Given the description of an element on the screen output the (x, y) to click on. 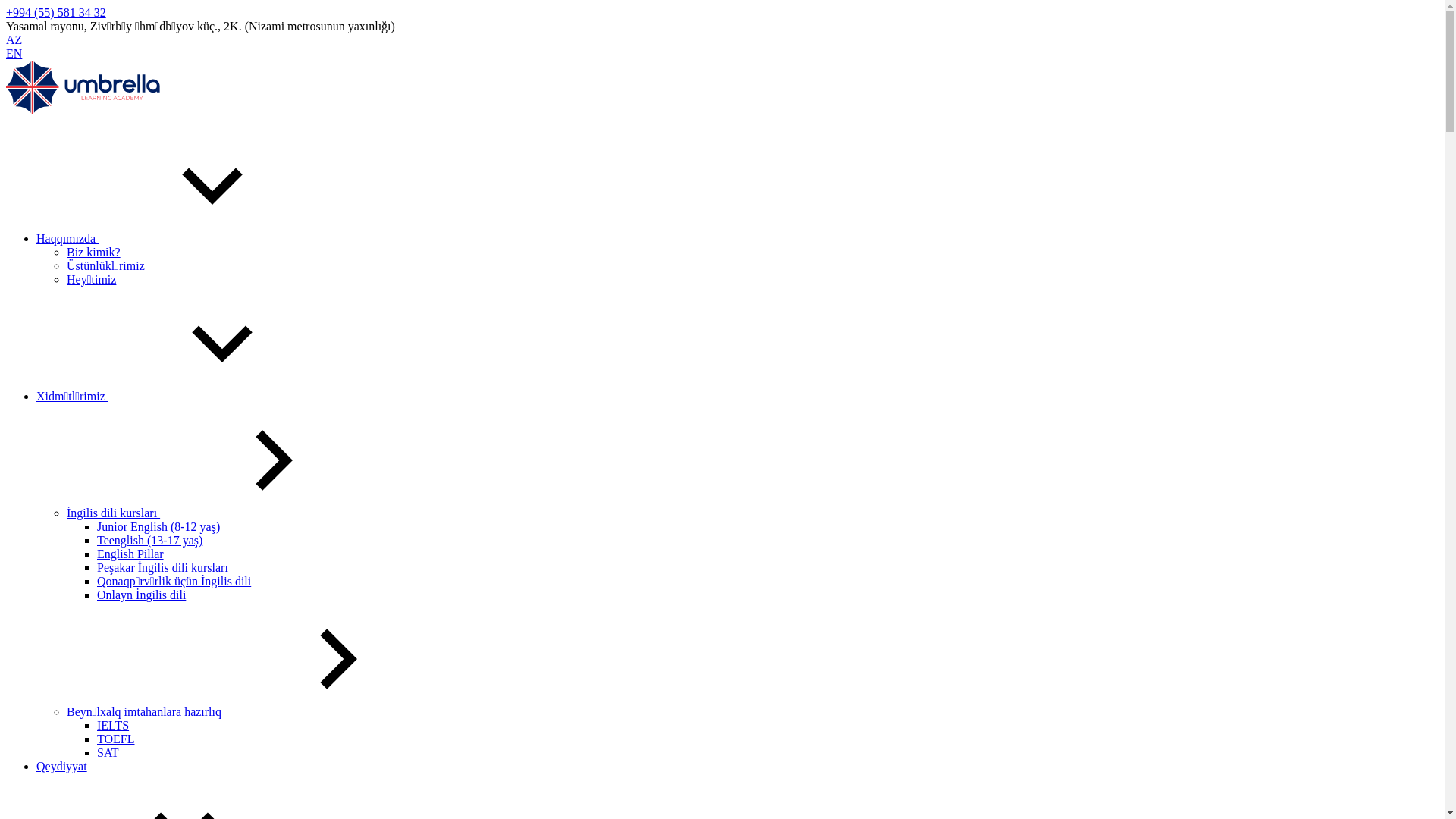
Biz kimik? Element type: text (93, 251)
EN Element type: text (13, 53)
SAT Element type: text (107, 752)
English Pillar Element type: text (130, 553)
IELTS Element type: text (112, 724)
TOEFL Element type: text (115, 738)
+994 (55) 581 34 32 Element type: text (56, 12)
Qeydiyyat Element type: text (61, 765)
AZ Element type: text (13, 39)
